Given the description of an element on the screen output the (x, y) to click on. 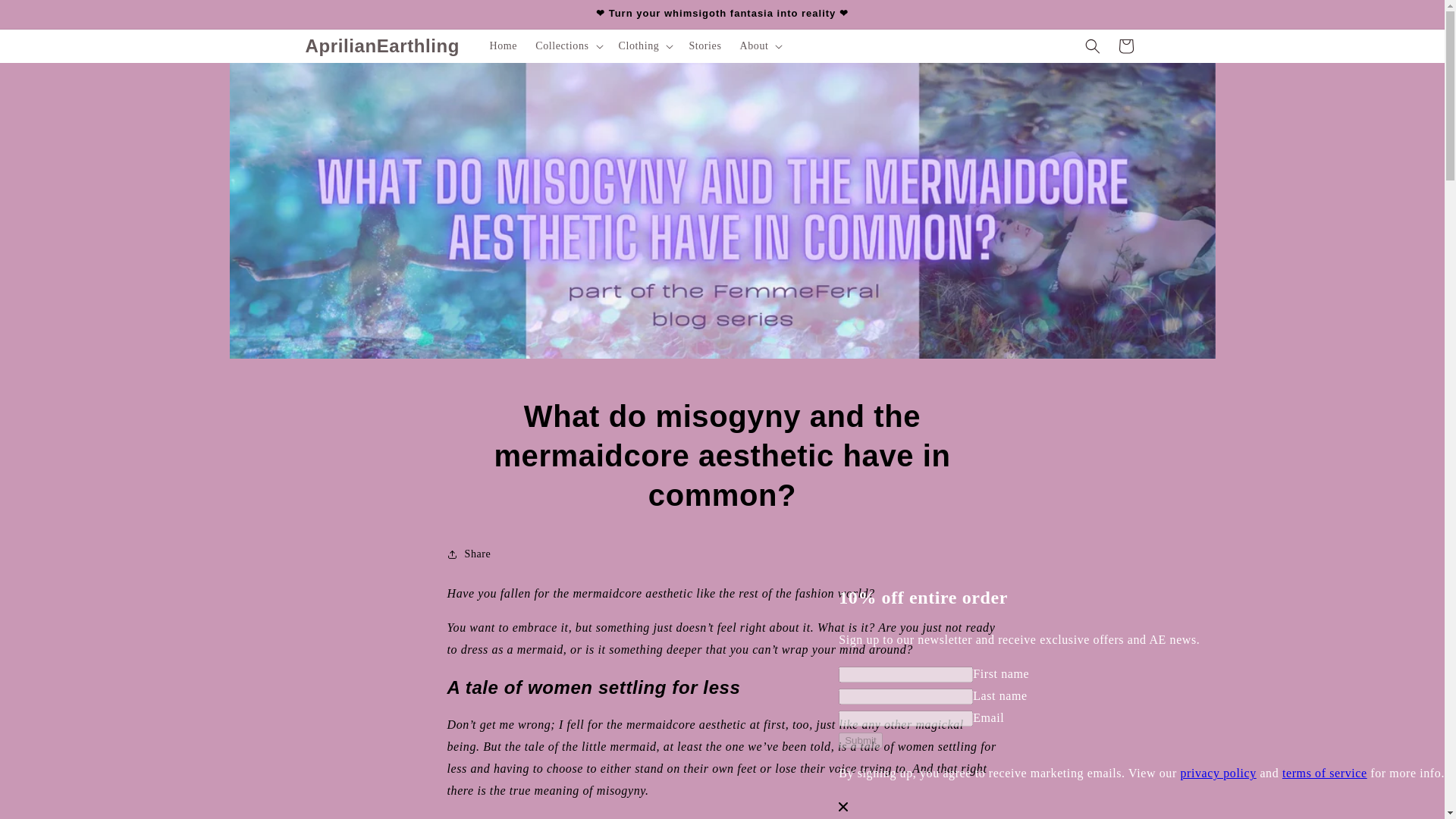
Home (503, 46)
Cart (1124, 46)
Skip to content (45, 17)
Stories (704, 46)
AprilianEarthling (382, 46)
